Given the description of an element on the screen output the (x, y) to click on. 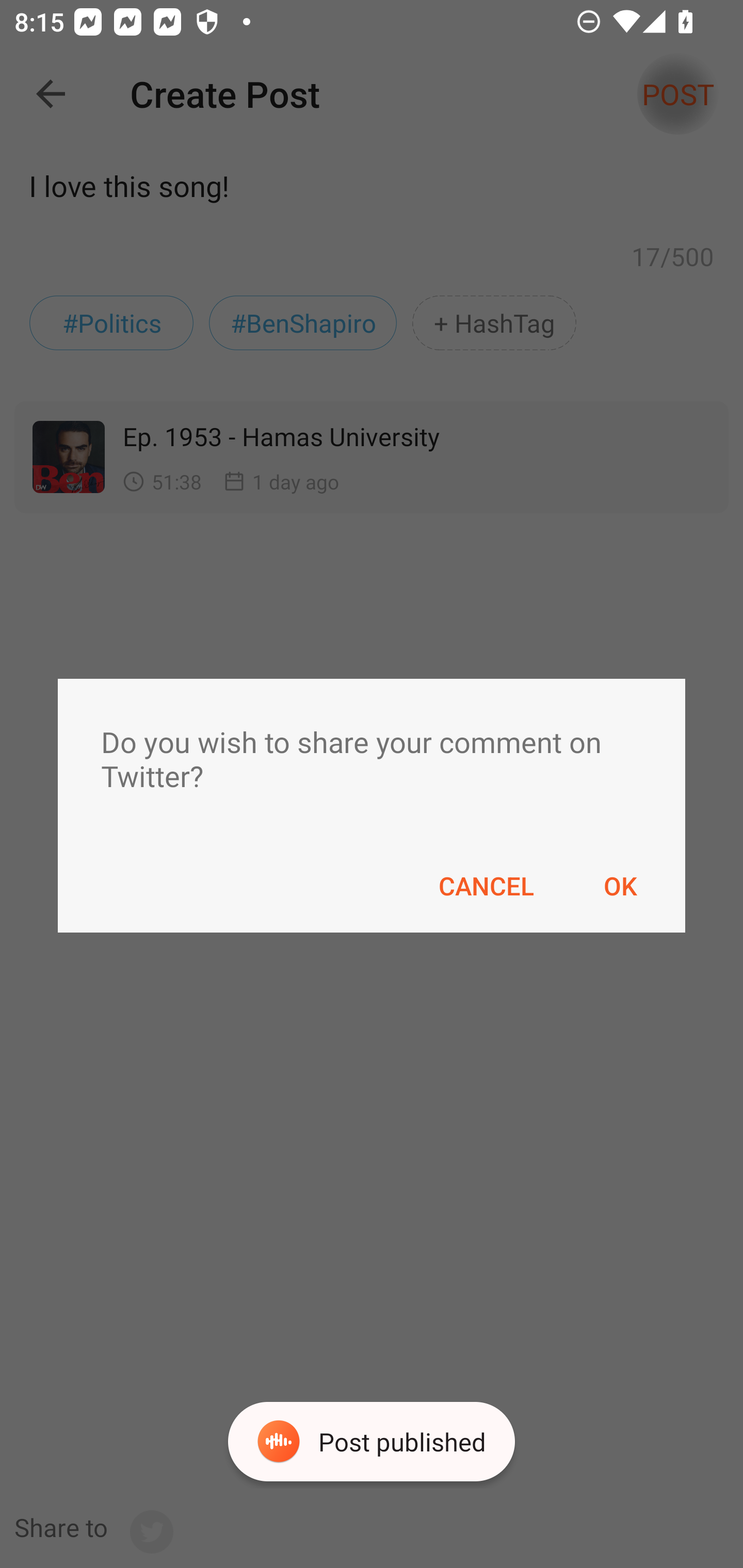
CANCEL (485, 885)
OK (619, 885)
